Given the description of an element on the screen output the (x, y) to click on. 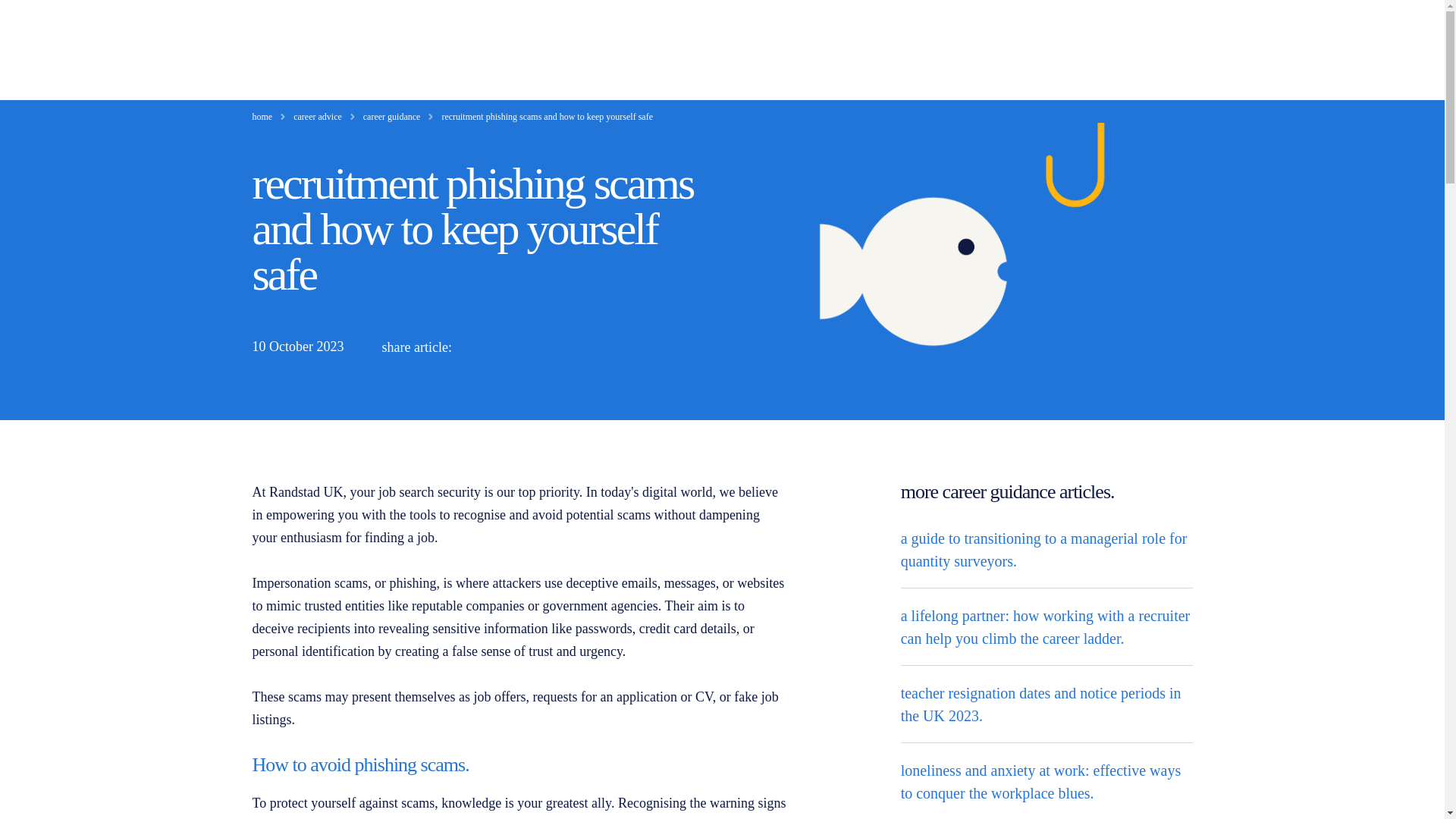
share this article on facebook (550, 346)
share this article on linkedin (479, 346)
share this article on twitter (514, 346)
gone phishing (965, 271)
